Given the description of an element on the screen output the (x, y) to click on. 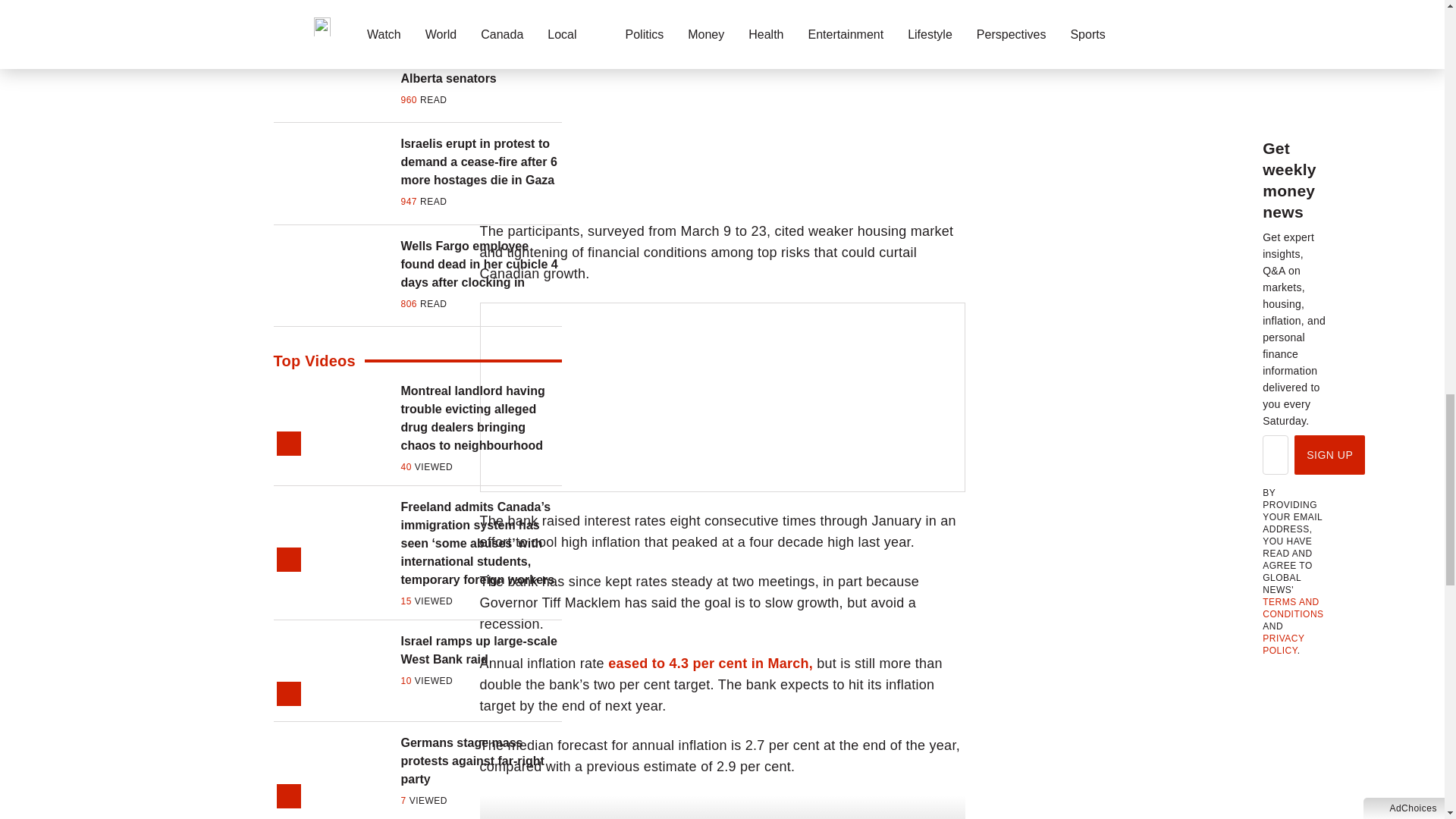
Germans stage mass protests against far-right party (480, 760)
Israel ramps up large-scale West Bank raid (480, 650)
